Given the description of an element on the screen output the (x, y) to click on. 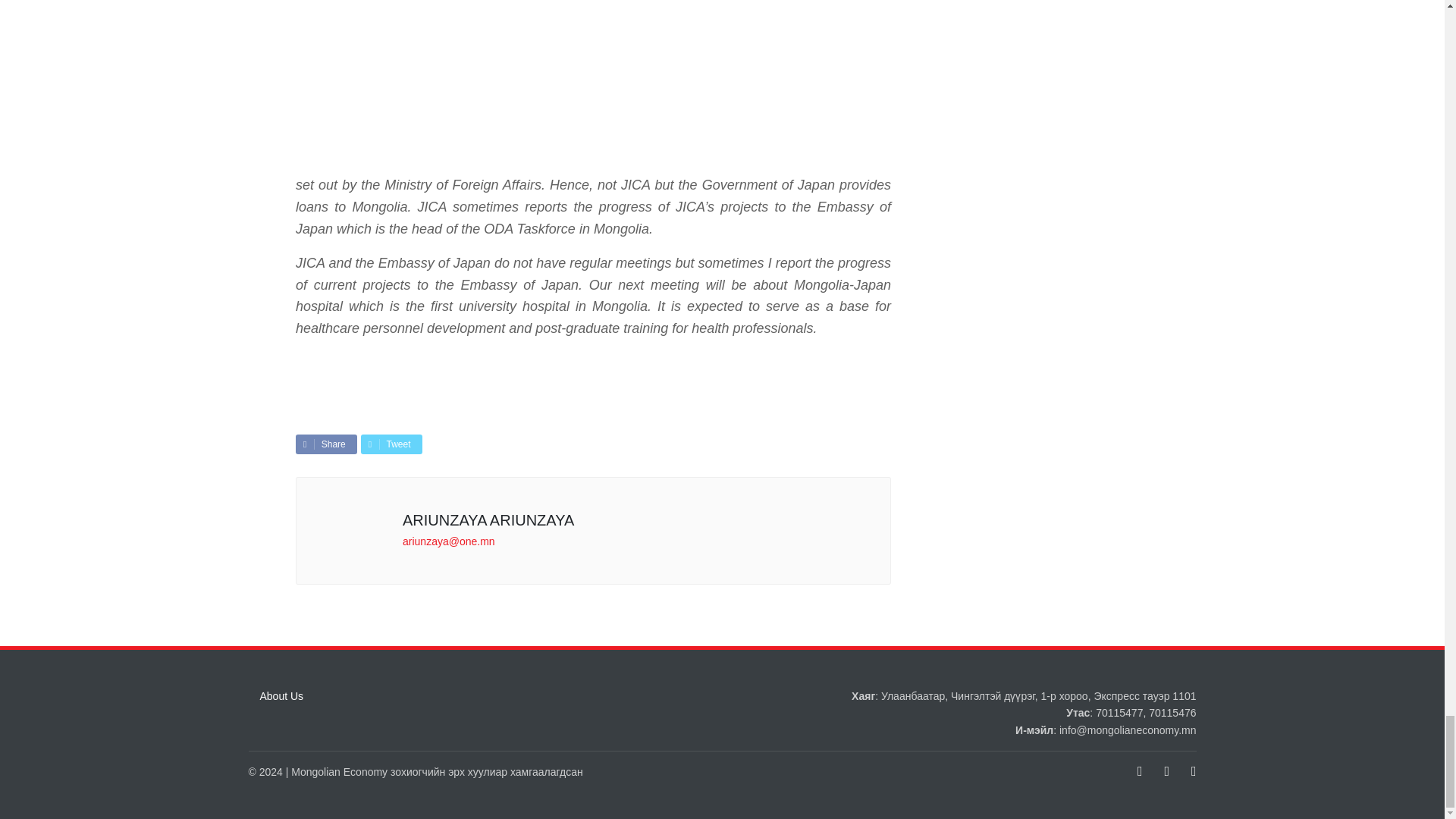
Share on Facebook (325, 444)
Tweet on Twitter (391, 444)
